Given the description of an element on the screen output the (x, y) to click on. 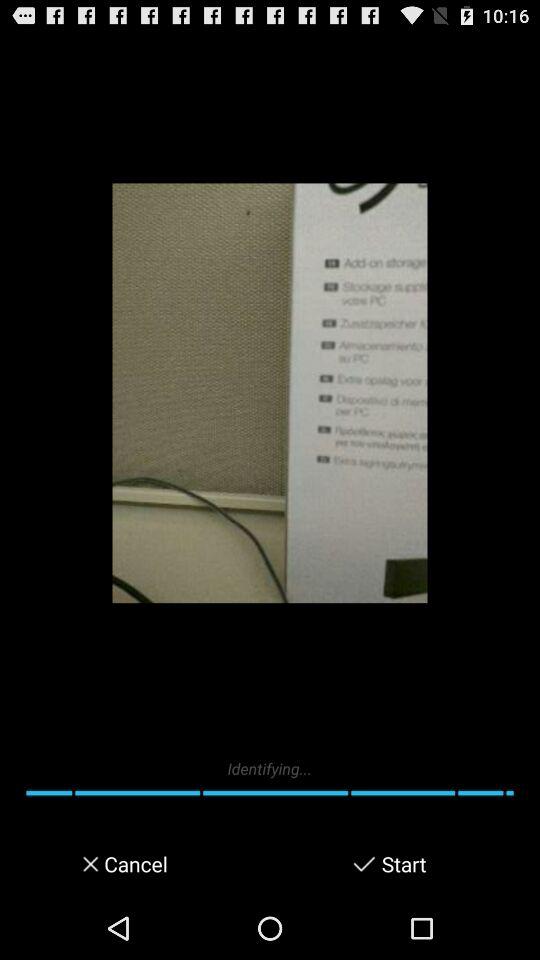
click the icon to the left of start item (363, 863)
